Given the description of an element on the screen output the (x, y) to click on. 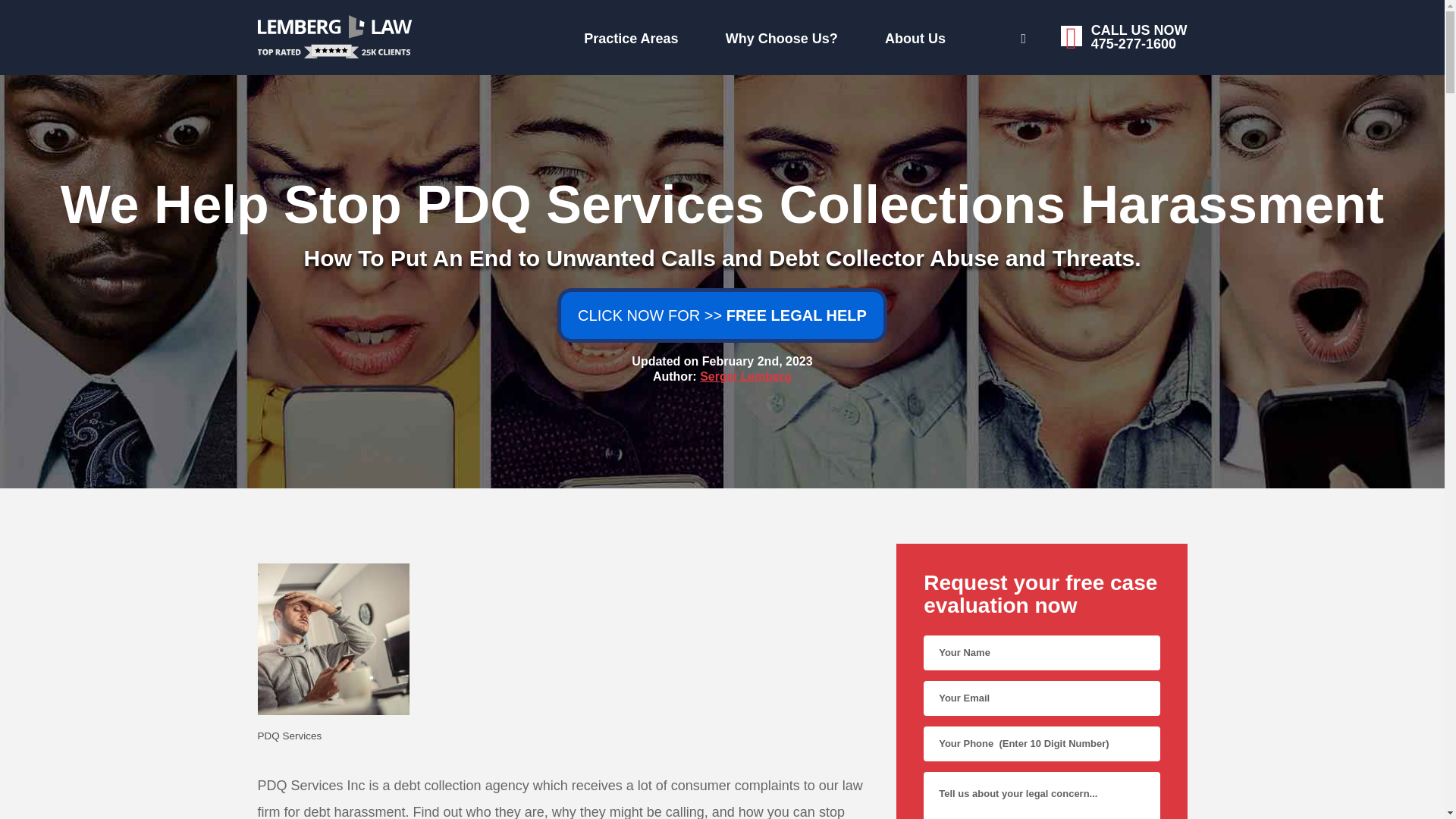
Sergei Lemberg (746, 376)
PDQ Services (563, 736)
About Us (760, 35)
Practice Areas (968, 35)
Why Choose Us? (475, 35)
